Given the description of an element on the screen output the (x, y) to click on. 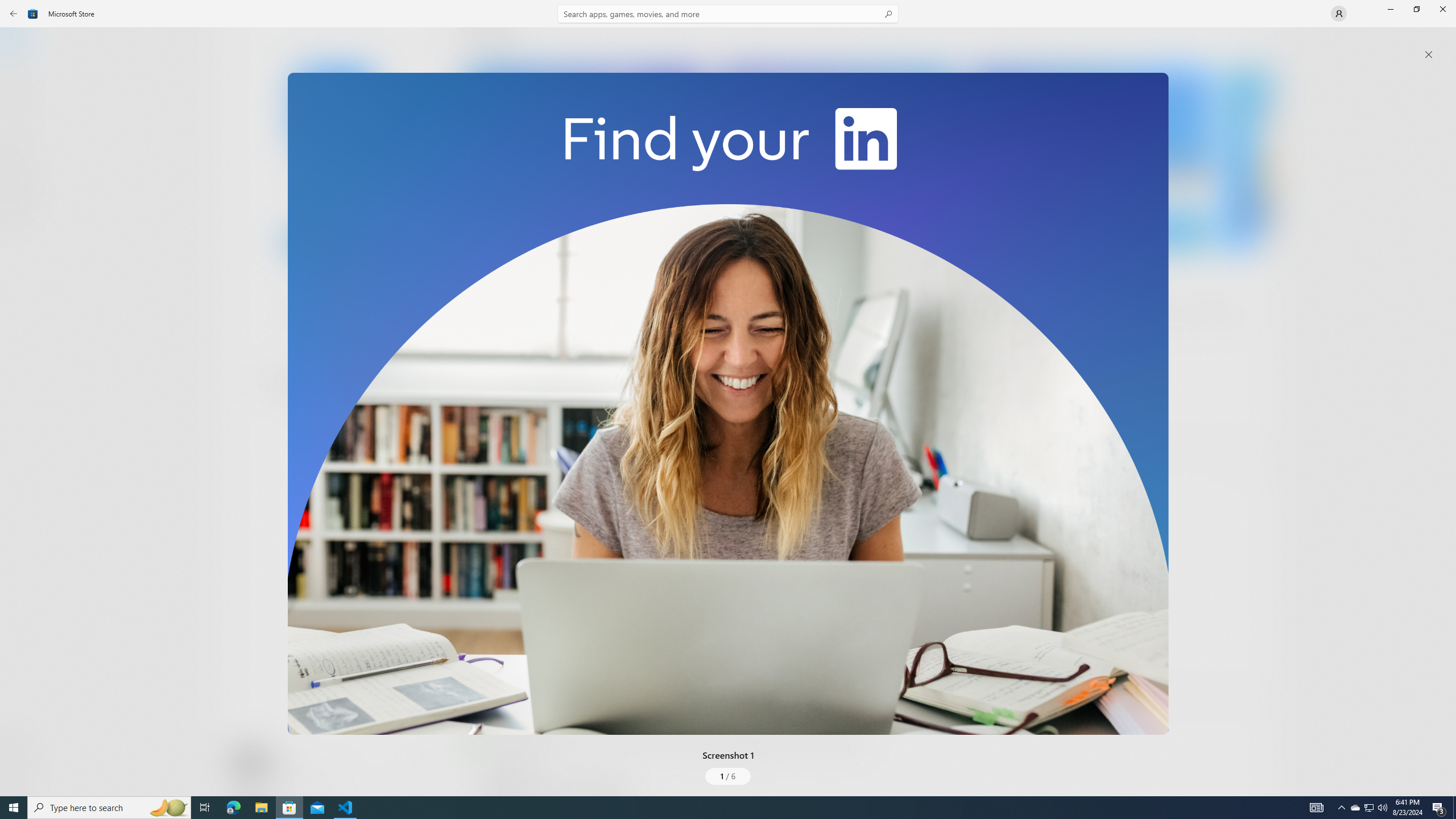
Share (424, 769)
Show all ratings and reviews (477, 667)
3.9 stars. Click to skip to ratings and reviews (307, 315)
Back (13, 13)
Search (727, 13)
Screenshot 1 (727, 403)
Screenshot 2 (836, 158)
See all (1253, 41)
Show more (485, 426)
